Given the description of an element on the screen output the (x, y) to click on. 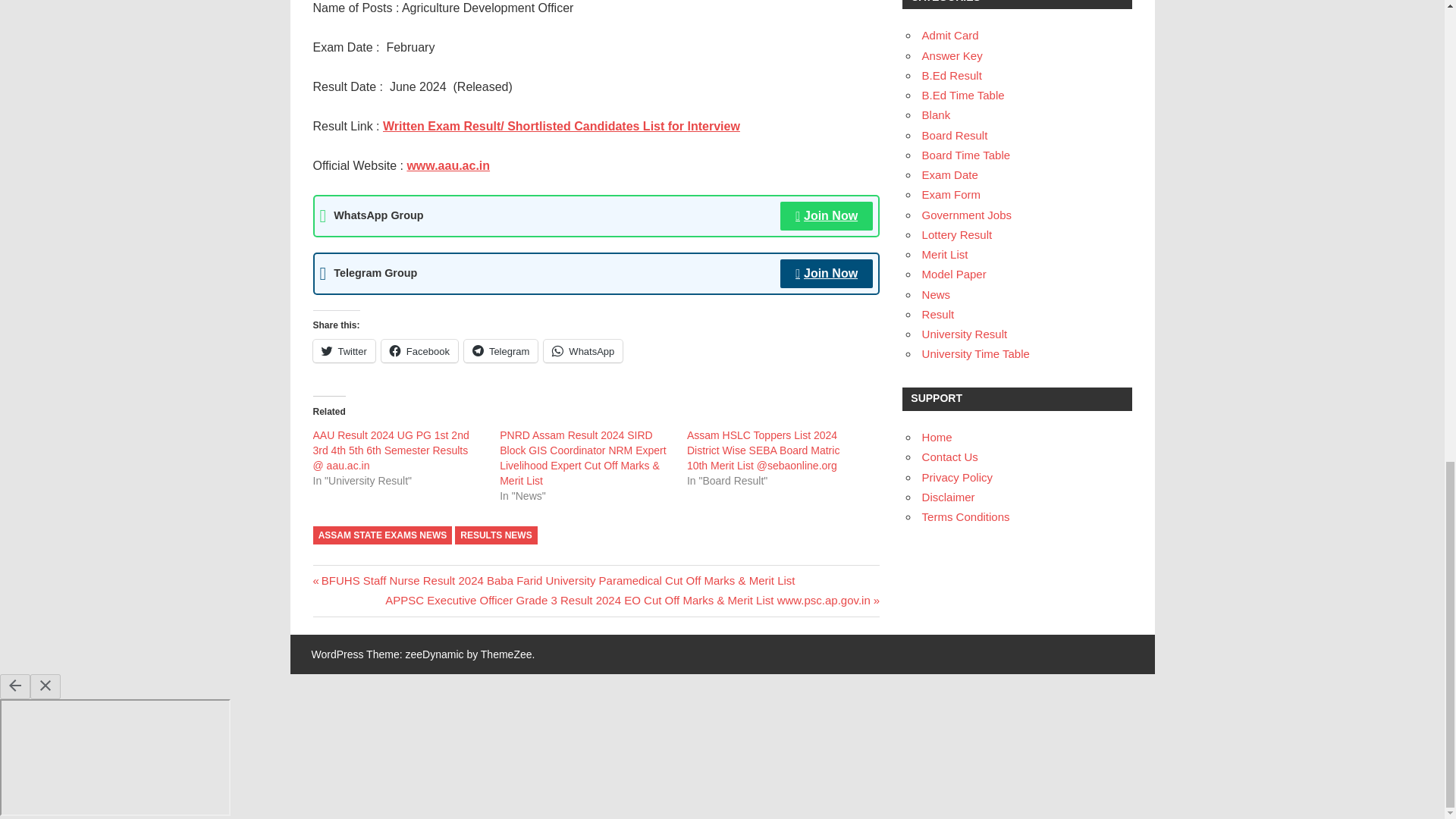
Facebook (419, 350)
Join Now (826, 273)
Click to share on Facebook (419, 350)
Click to share on Telegram (500, 350)
Click to share on WhatsApp (583, 350)
www.aau.ac.in (447, 164)
Twitter (343, 350)
ASSAM STATE EXAMS NEWS (382, 535)
Telegram (500, 350)
WhatsApp (583, 350)
RESULTS NEWS (495, 535)
Click to share on Twitter (343, 350)
Join Now (826, 215)
